Given the description of an element on the screen output the (x, y) to click on. 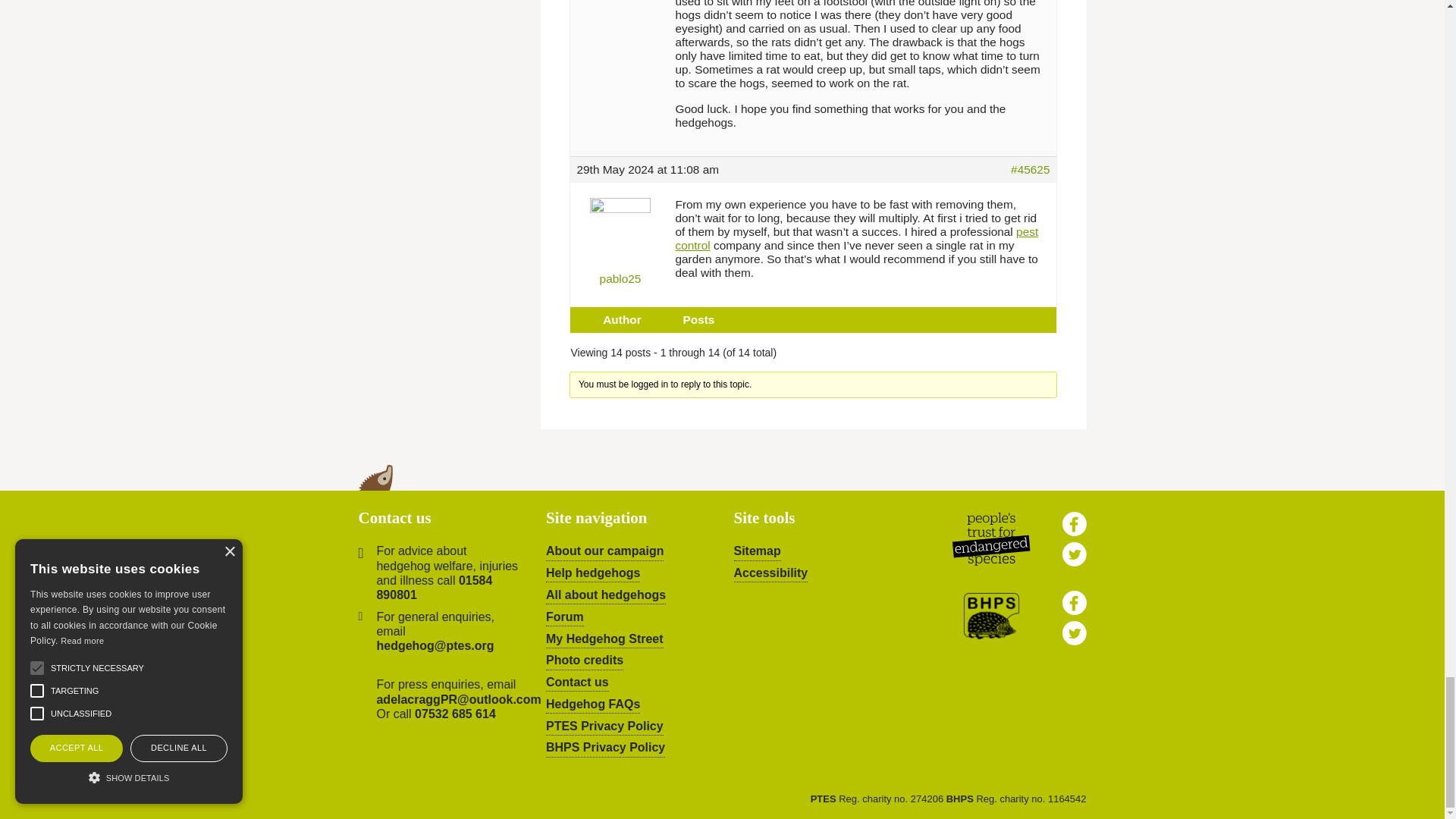
View pablo25's profile (619, 237)
